Given the description of an element on the screen output the (x, y) to click on. 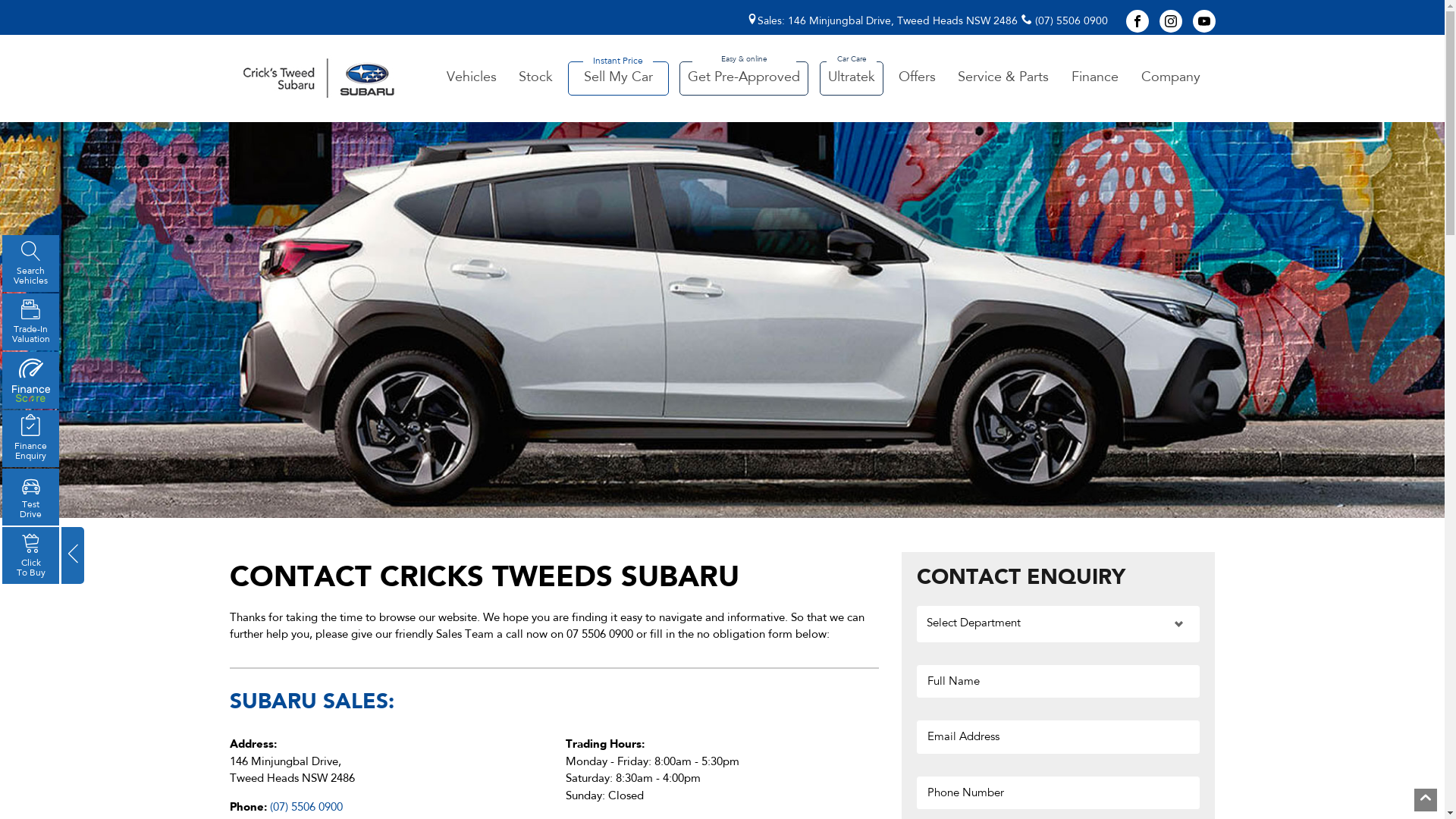
Finance Element type: text (1094, 78)
(07) 5506 0900 Element type: text (305, 807)
Trade-In
Valuation Element type: text (30, 321)
(07) 5506 0900 Element type: text (1063, 20)
Ultratek Element type: text (851, 78)
Sales: 146 Minjungbal Drive, Tweed Heads NSW 2486 Element type: text (881, 20)
Service & Parts Element type: text (1003, 78)
Search
Vehicles Element type: text (30, 263)
Vehicles Element type: text (470, 78)
Finance
Enquiry Element type: text (30, 438)
Sell My Car Element type: text (617, 78)
Click
To Buy Element type: text (30, 555)
Get Pre-Approved Element type: text (743, 78)
Stock Element type: text (535, 78)
Offers Element type: text (917, 78)
Company Element type: text (1170, 78)
Test
Drive Element type: text (30, 496)
